Given the description of an element on the screen output the (x, y) to click on. 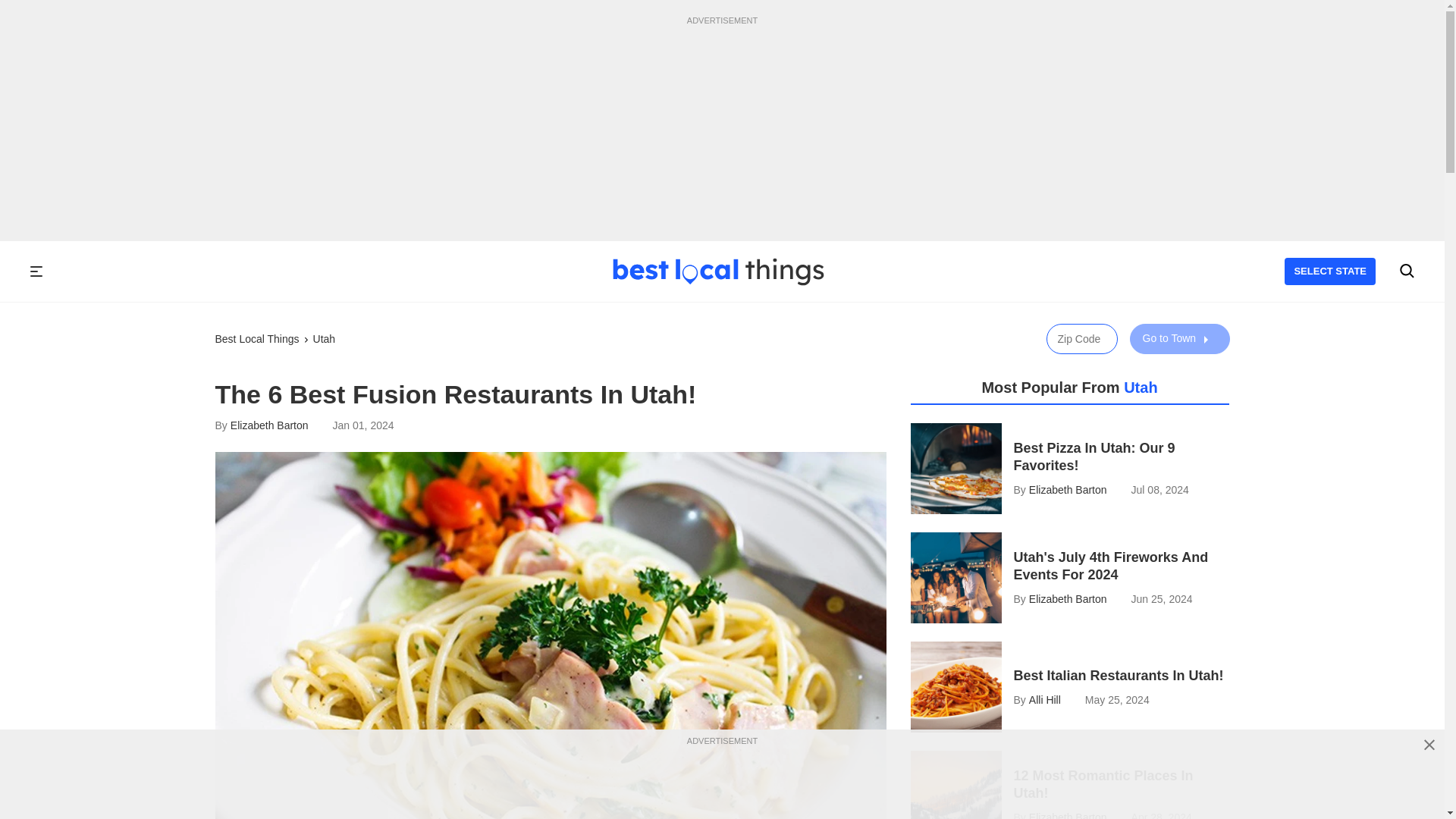
SELECT STATE (1329, 271)
Five digit zip code (1082, 338)
